Given the description of an element on the screen output the (x, y) to click on. 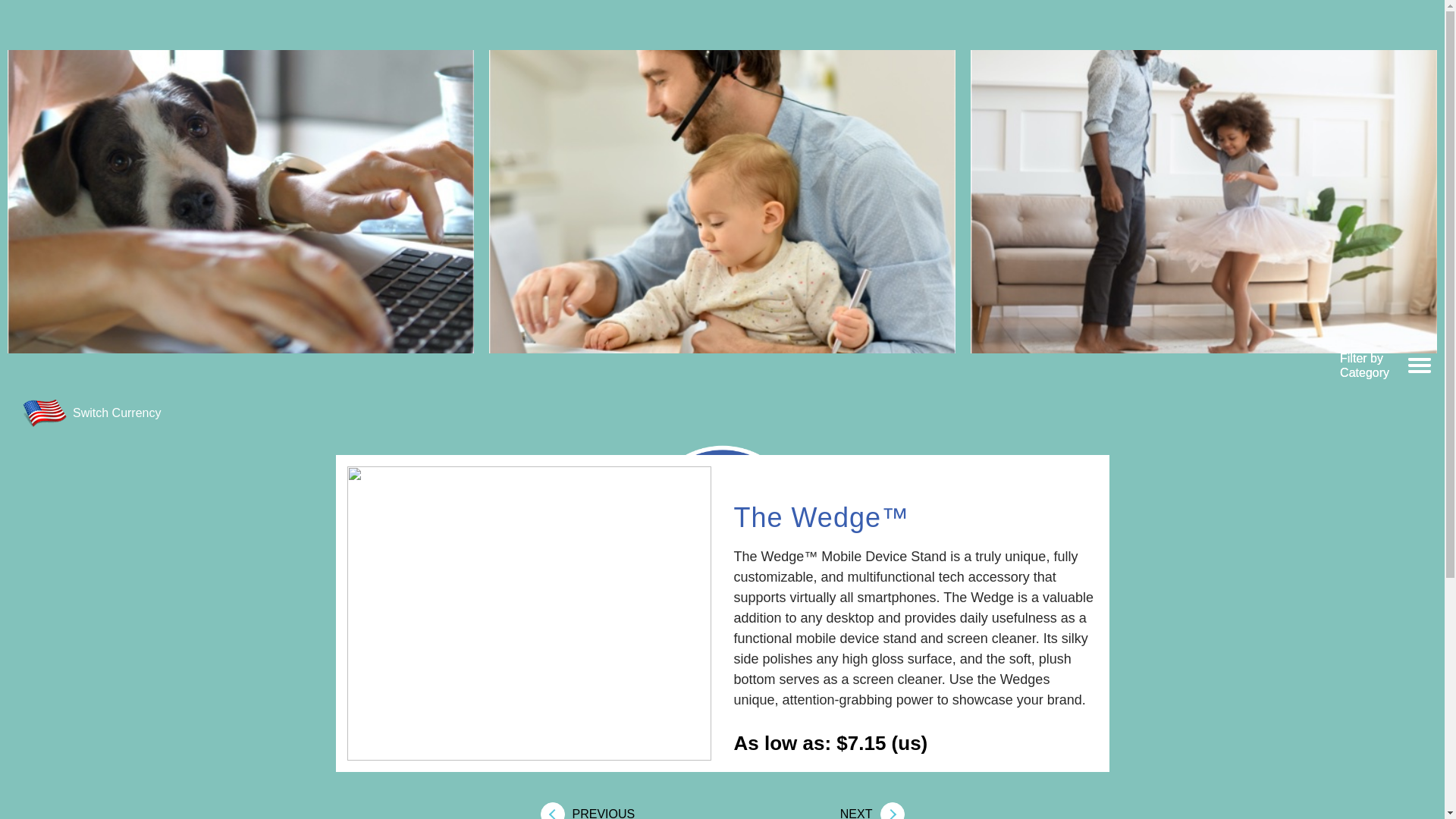
NEXT (864, 810)
PREVIOUS (594, 810)
Switch Currency (95, 412)
homehub-logo-main (722, 525)
